Given the description of an element on the screen output the (x, y) to click on. 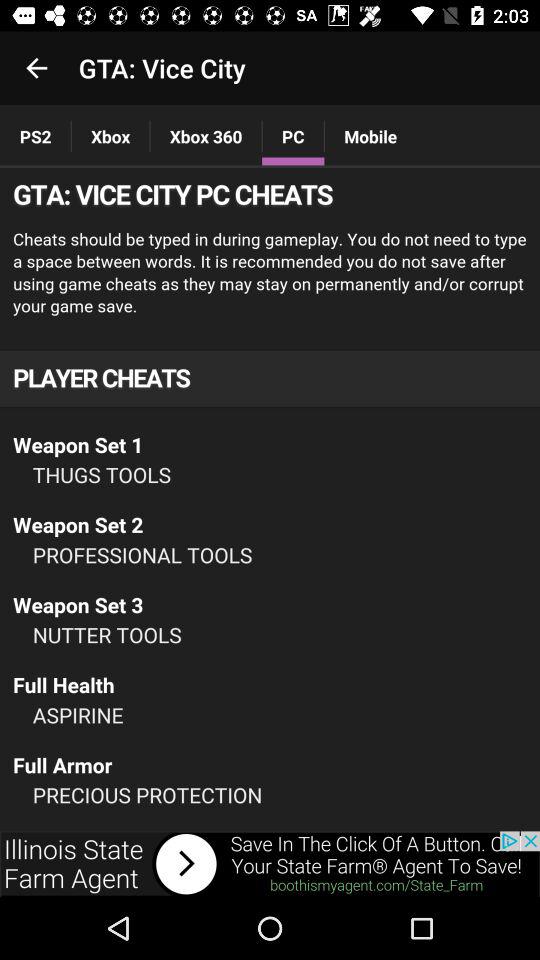
advertisement (270, 499)
